Given the description of an element on the screen output the (x, y) to click on. 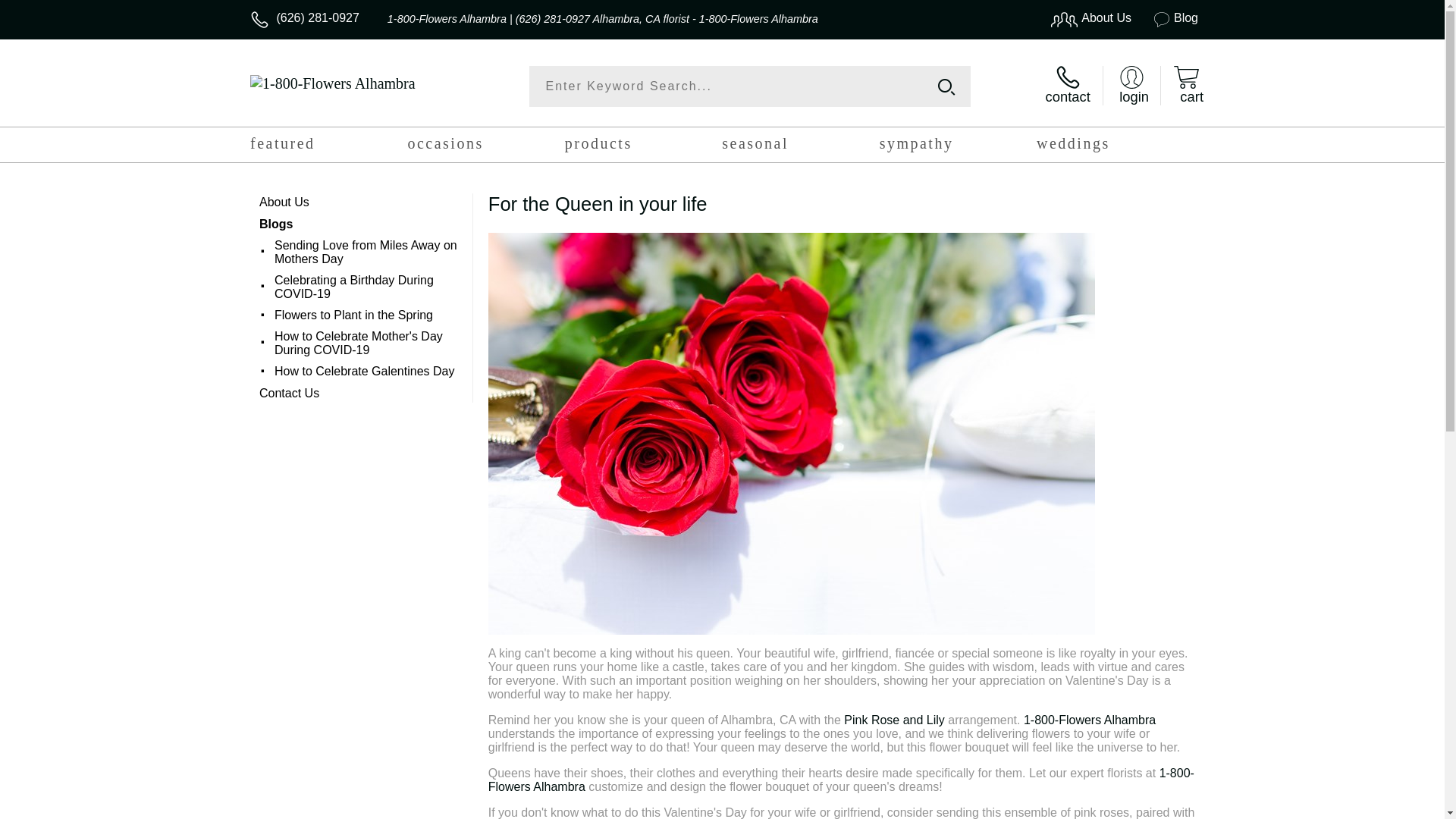
Blogs Element type: text (359, 224)
seasonal Element type: text (799, 146)
products Element type: text (642, 146)
occasions Element type: text (485, 146)
cart Element type: text (1186, 85)
About Us Element type: text (359, 202)
(626) 281-0927 Element type: text (317, 17)
login or register
login Element type: text (1131, 85)
contact Element type: text (1067, 85)
weddings Element type: text (1114, 146)
sympathy Element type: text (957, 146)
How to Celebrate Galentines Day Element type: text (366, 371)
Contact Us Element type: text (359, 393)
featured Element type: text (328, 146)
Sending Love from Miles Away on Mothers Day Element type: text (366, 252)
Blog Element type: text (1166, 17)
Pink Rose and Lily Element type: text (894, 719)
1-800-Flowers Alhambra Element type: text (841, 779)
Flowers to Plant in the Spring Element type: text (366, 315)
Celebrating a Birthday During COVID-19 Element type: text (366, 287)
About Us Element type: text (1083, 17)
How to Celebrate Mother's Day During COVID-19 Element type: text (366, 343)
Enter Keyword Search... Element type: hover (750, 85)
1-800-Flowers Alhambra Element type: text (1089, 719)
